Given the description of an element on the screen output the (x, y) to click on. 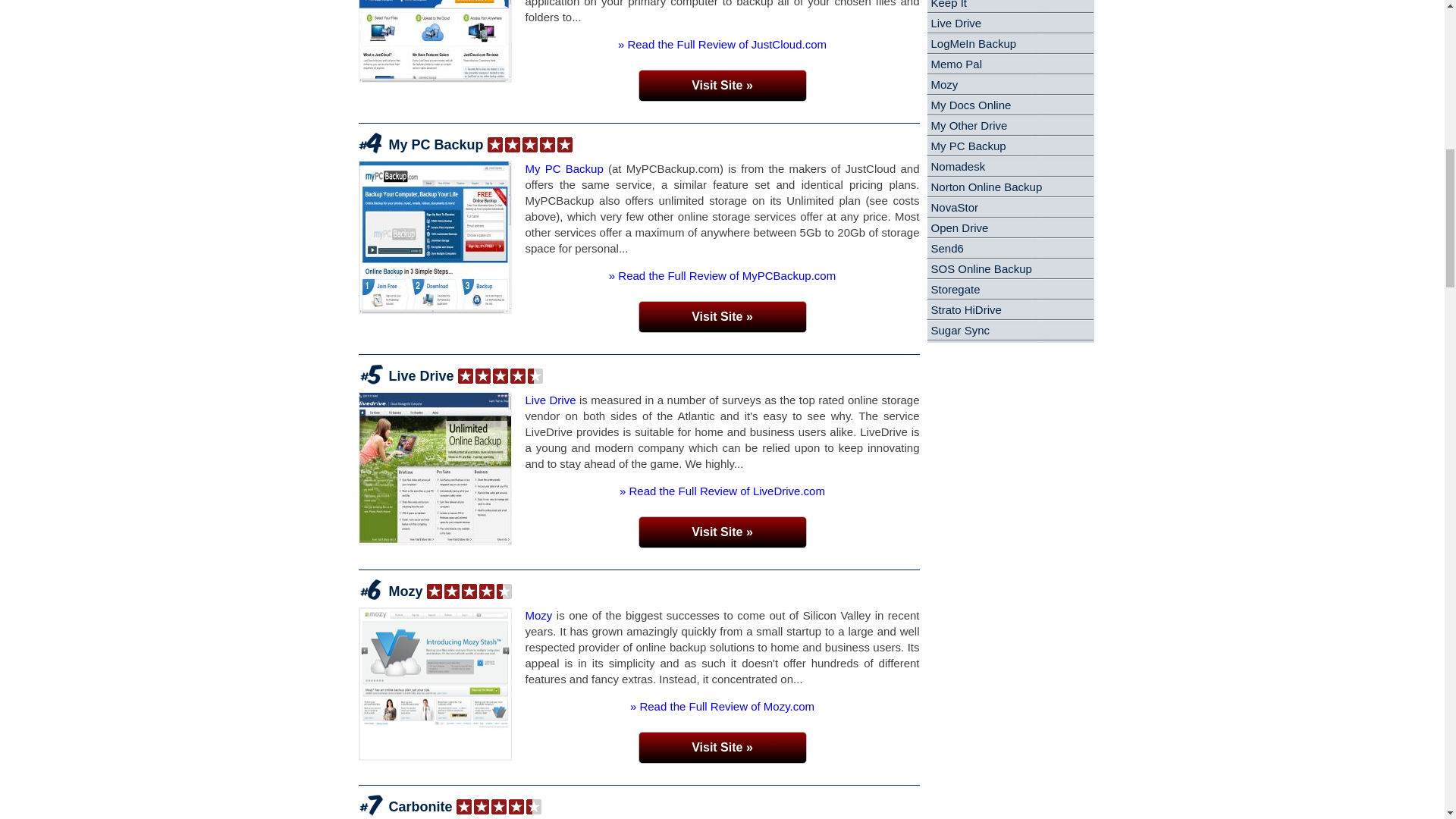
Visit MyPCBackup.com (722, 316)
Mozy (537, 615)
My PC Backup (563, 168)
Visit LiveDrive.com (722, 531)
Visit JustCloud.com (722, 85)
Visit Mozy.com (722, 747)
My PC Backup (435, 145)
Live Drive (549, 399)
Live Drive (420, 376)
Mozy (405, 591)
